Given the description of an element on the screen output the (x, y) to click on. 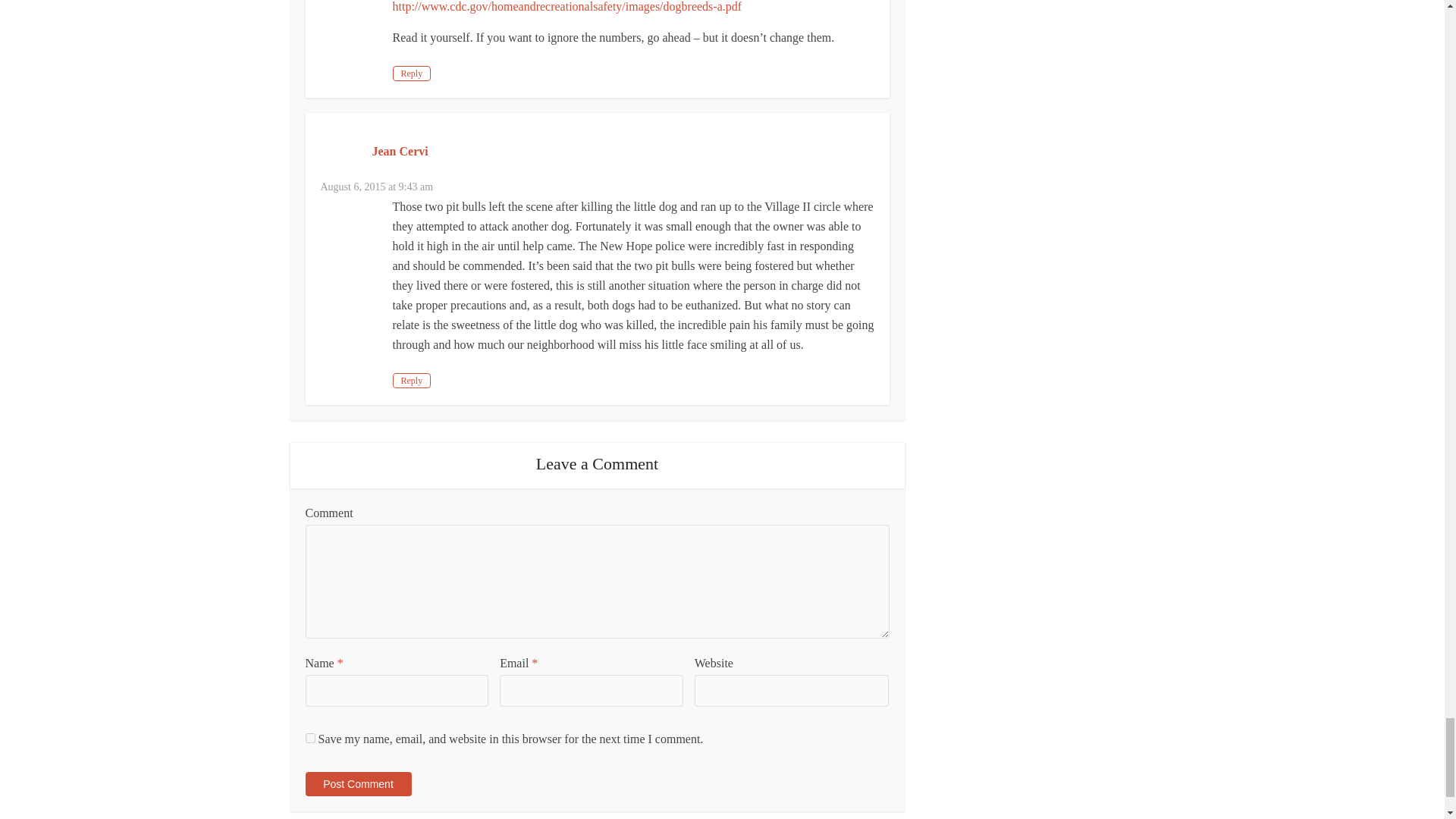
Post Comment (357, 784)
yes (309, 737)
